Given the description of an element on the screen output the (x, y) to click on. 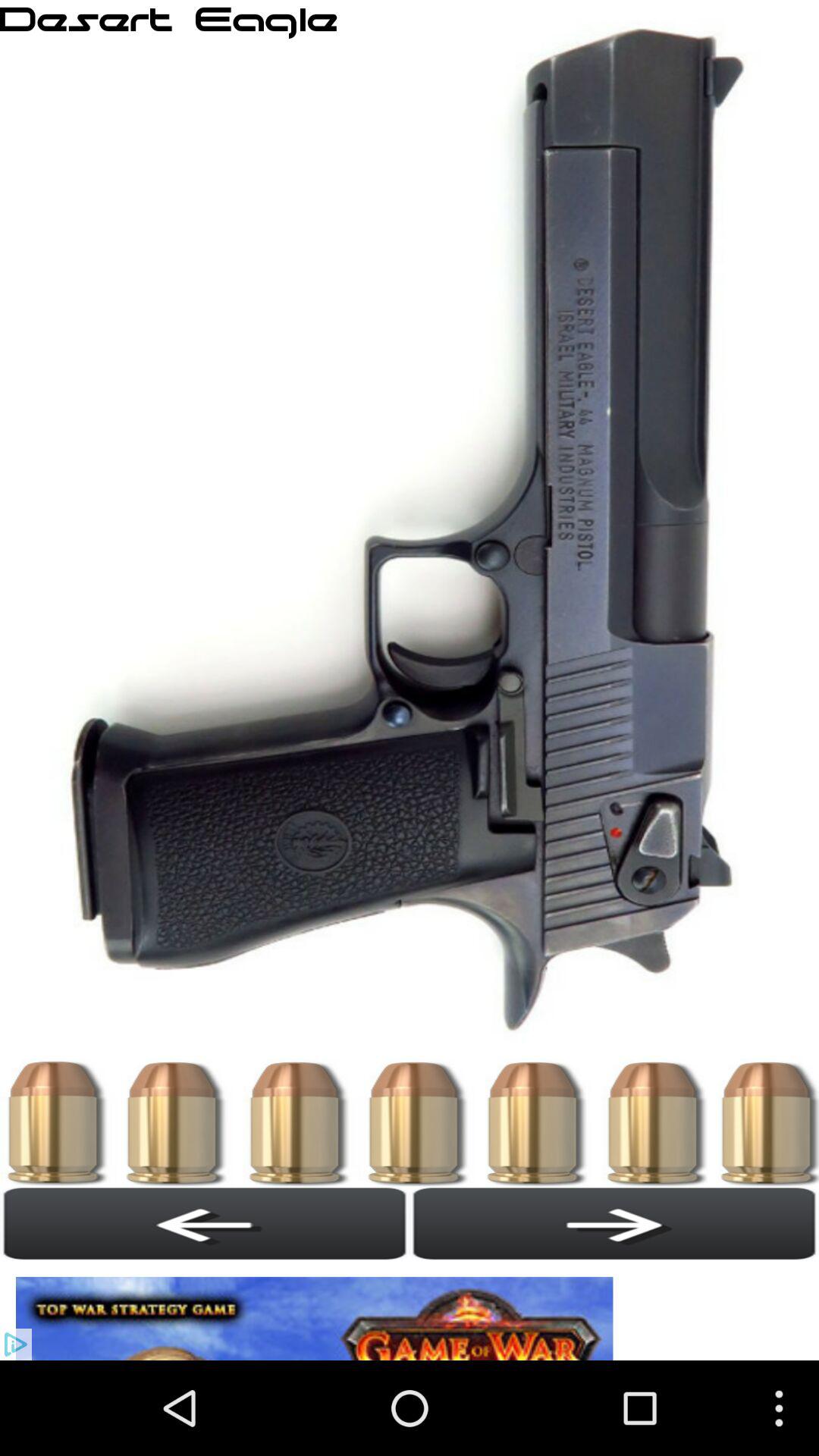
open the advertisement link (318, 1310)
